Given the description of an element on the screen output the (x, y) to click on. 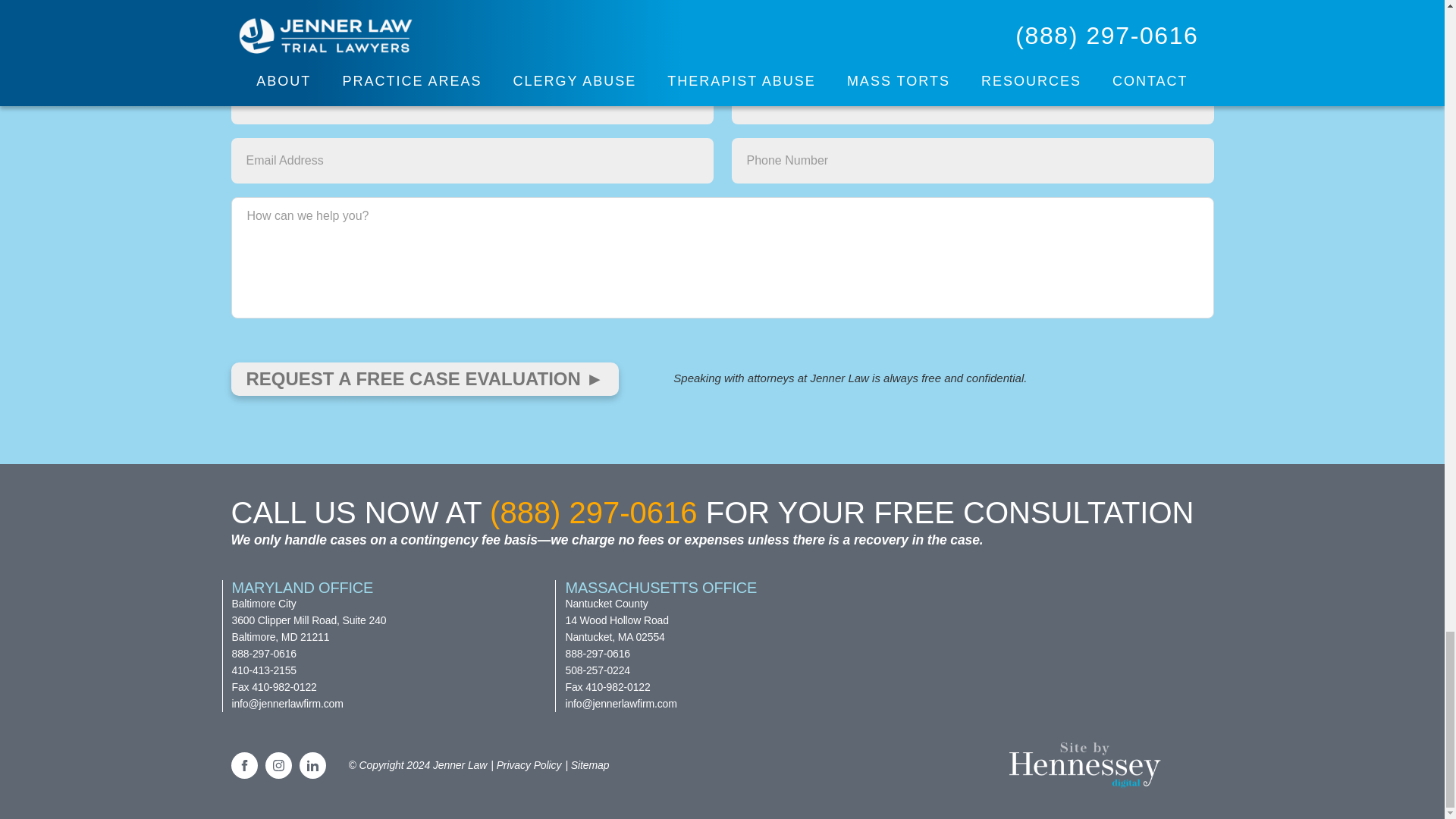
linkedin (311, 765)
Privacy Policy (525, 764)
Jenner Law (459, 764)
Call Us (593, 512)
facebook (243, 765)
instagram (278, 765)
Privacy Policy (586, 764)
